Given the description of an element on the screen output the (x, y) to click on. 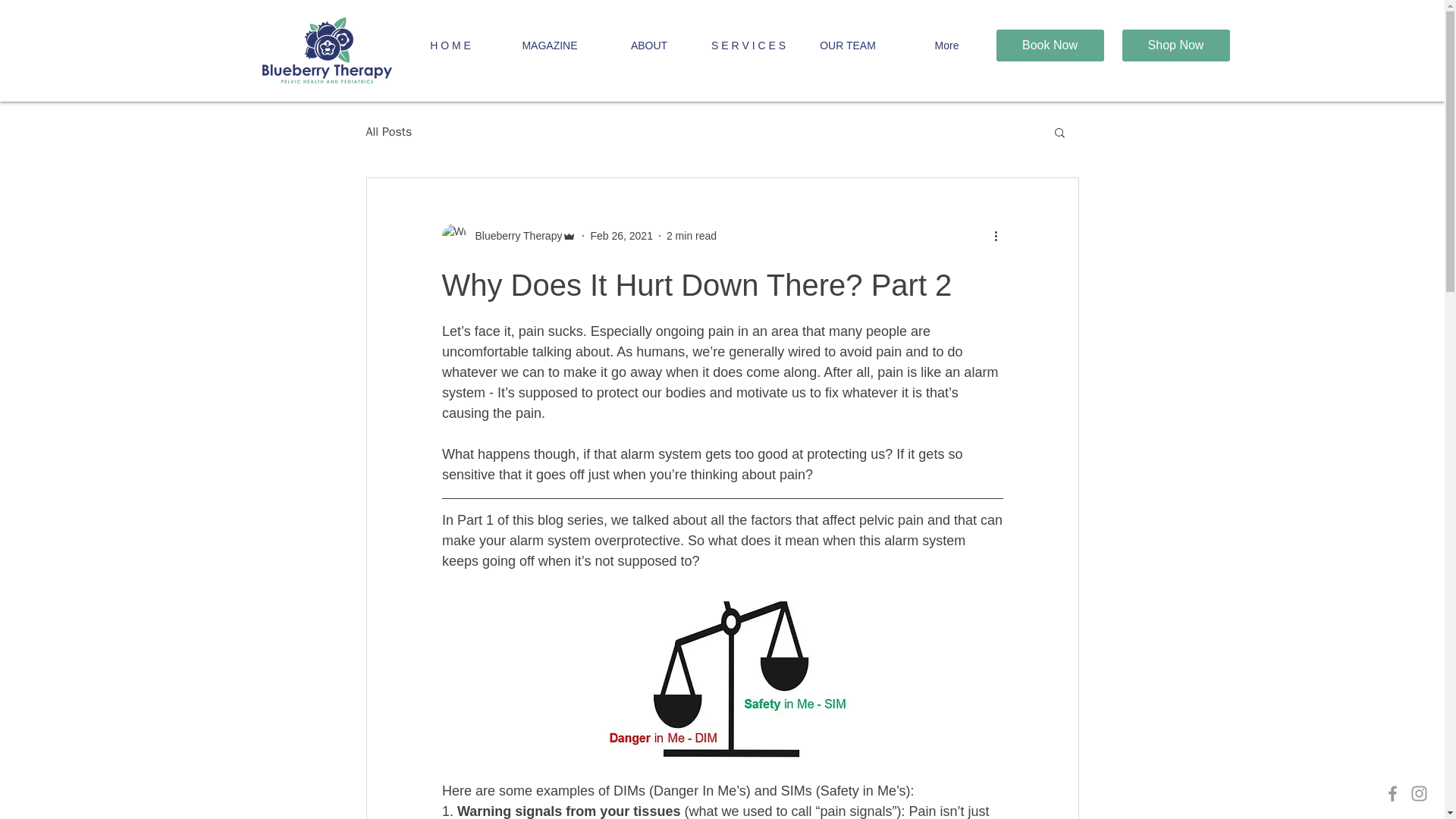
S E R V I C E S (747, 45)
2 min read (691, 234)
Blueberry Therapy (513, 235)
Feb 26, 2021 (620, 234)
MAGAZINE (549, 45)
OUR TEAM (846, 45)
H O M E (449, 45)
ABOUT (648, 45)
